Given the description of an element on the screen output the (x, y) to click on. 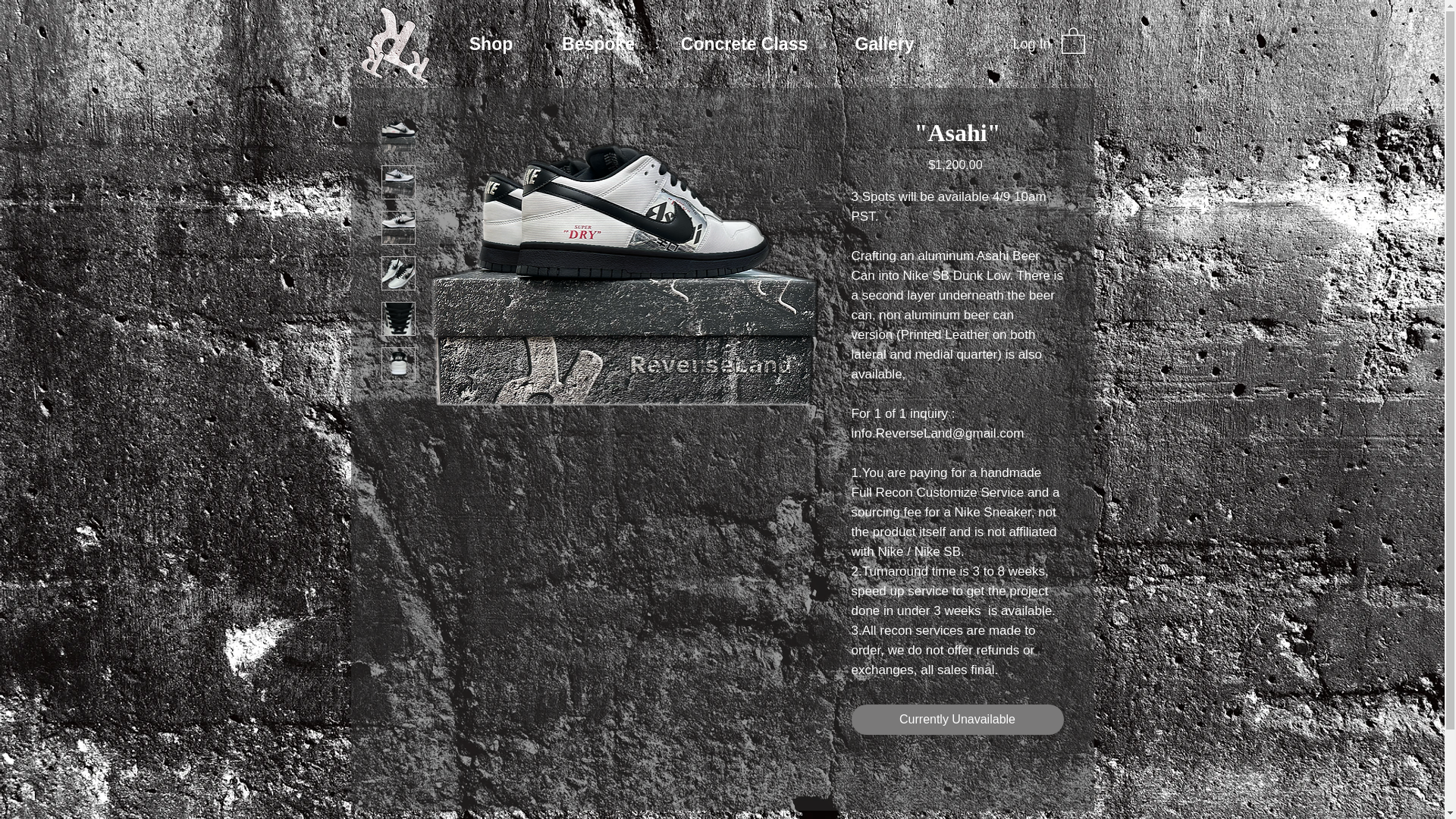
Gallery (884, 44)
Shop (491, 44)
Bespoke (598, 44)
Log In (1031, 44)
Concrete Class (743, 44)
Currently Unavailable (956, 719)
